Given the description of an element on the screen output the (x, y) to click on. 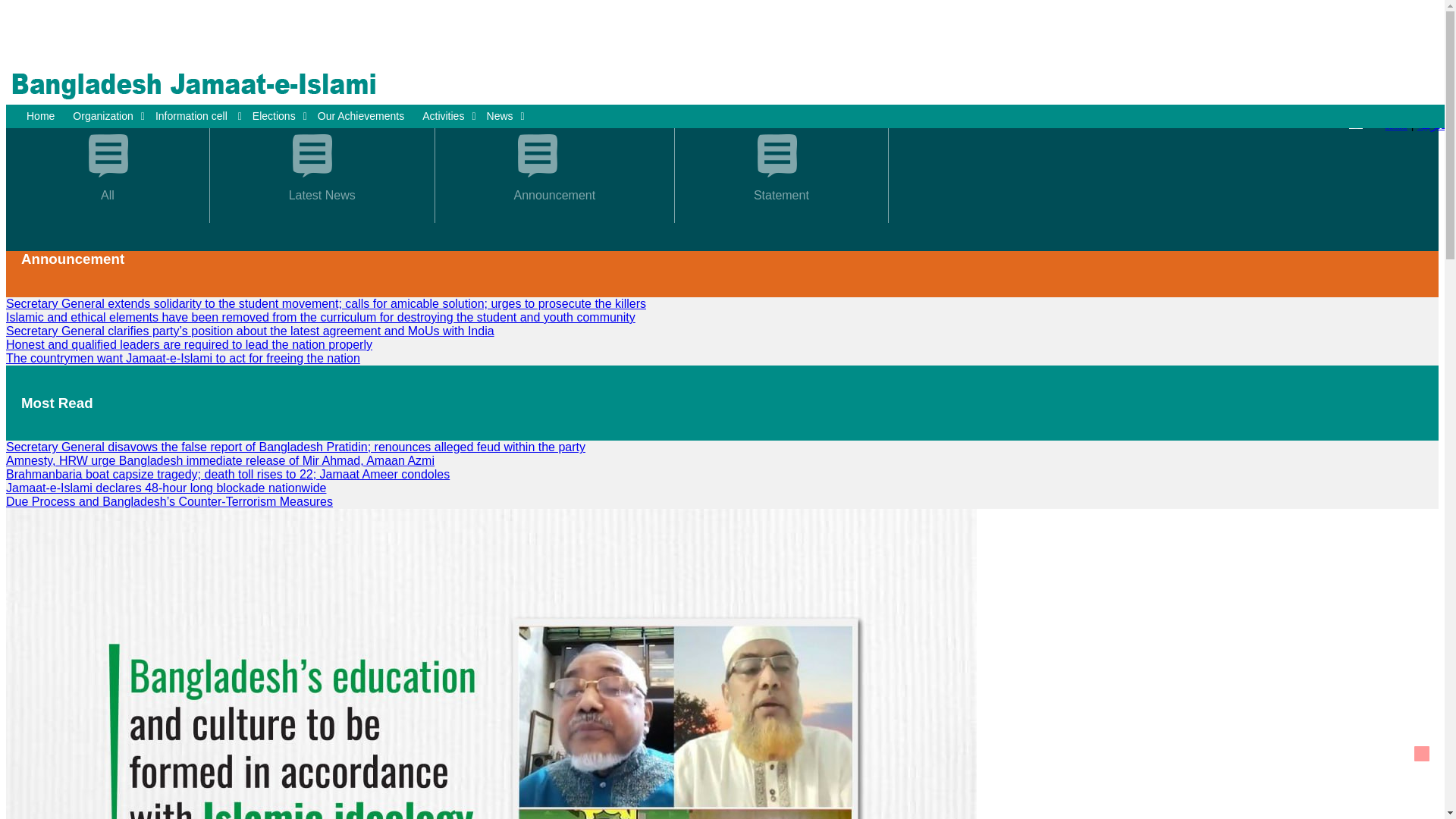
Home (43, 115)
Organization (107, 115)
